Given the description of an element on the screen output the (x, y) to click on. 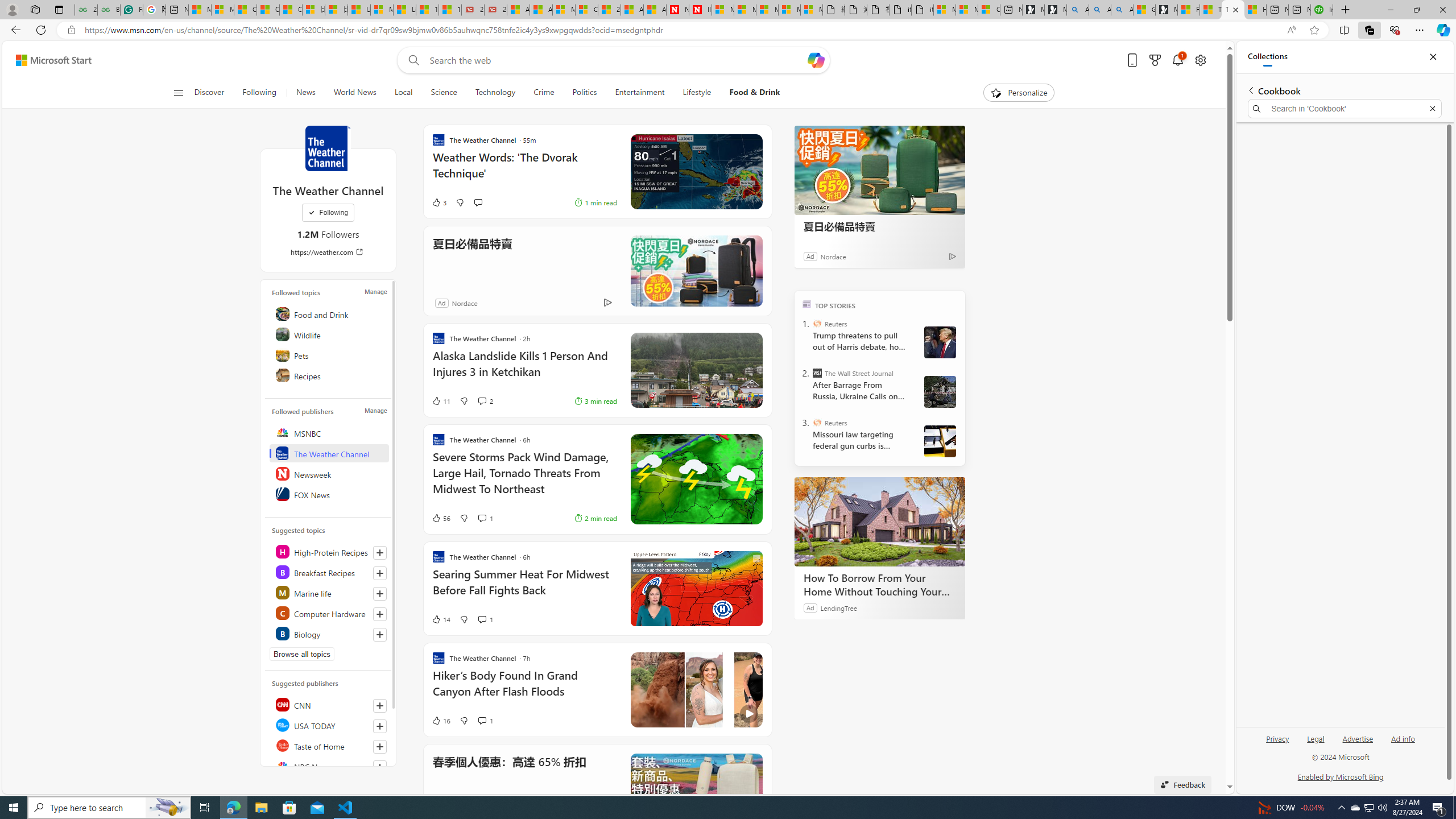
The Weather Channel (328, 452)
Cloud Computing Services | Microsoft Azure (586, 9)
Newsweek - News, Analysis, Politics, Business, Technology (677, 9)
